Given the description of an element on the screen output the (x, y) to click on. 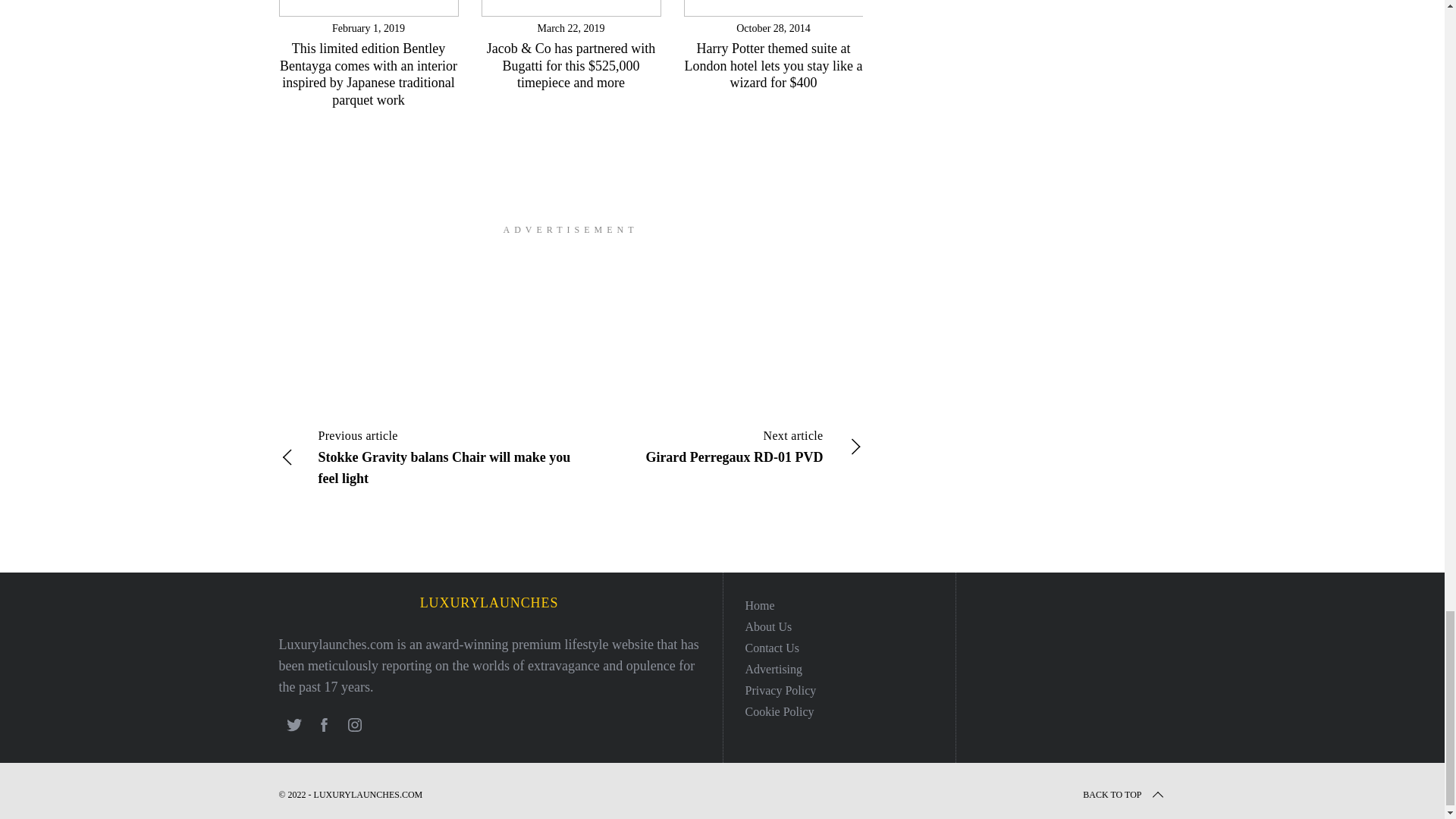
Cookie Policy (778, 710)
Contact us (771, 646)
Advertising (773, 667)
Home (759, 604)
Privacy Policy (779, 689)
About Us (768, 625)
